Given the description of an element on the screen output the (x, y) to click on. 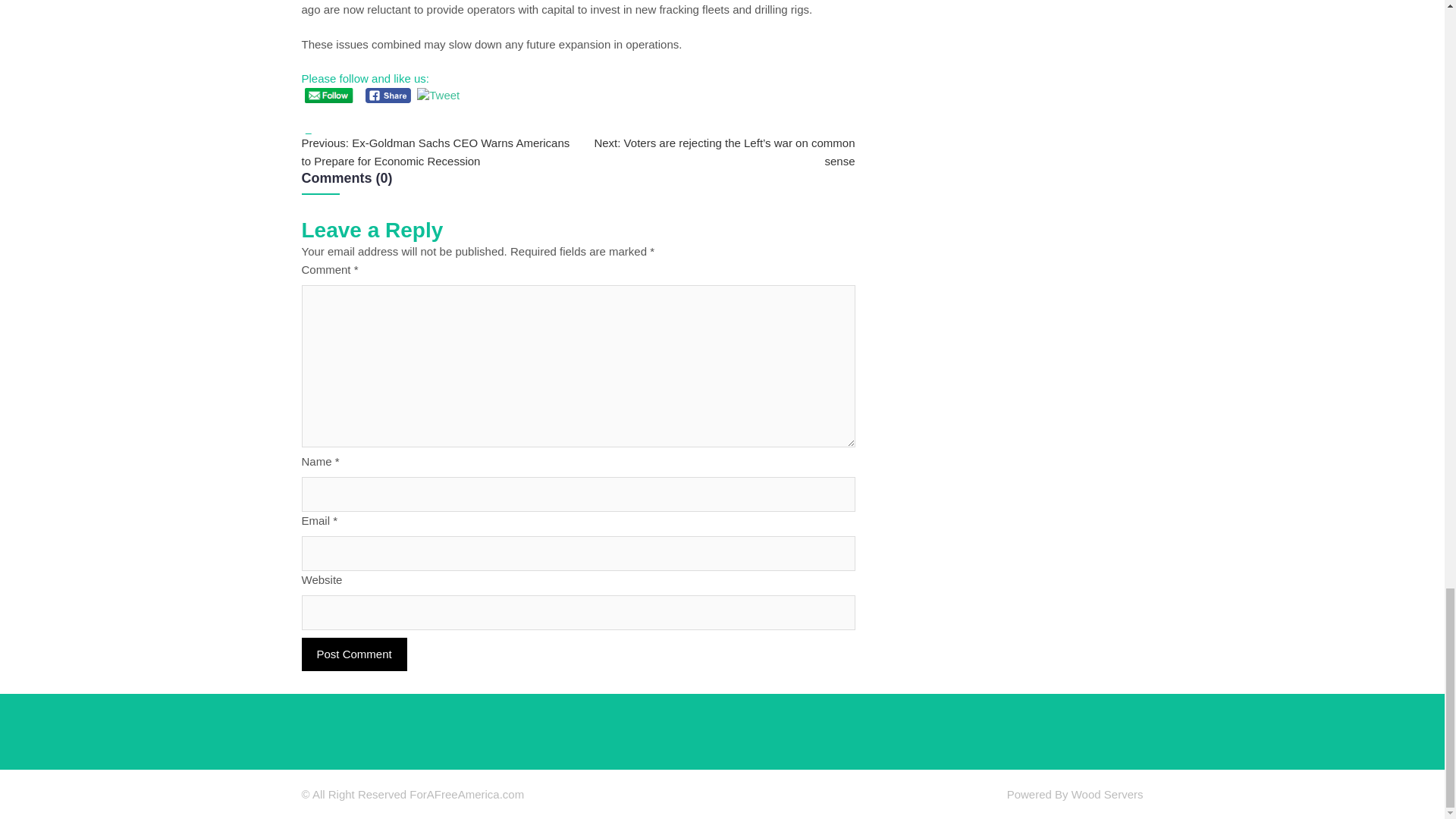
Post Comment (354, 654)
Tweet (438, 95)
Facebook Share (388, 95)
Post Comment (354, 654)
